Given the description of an element on the screen output the (x, y) to click on. 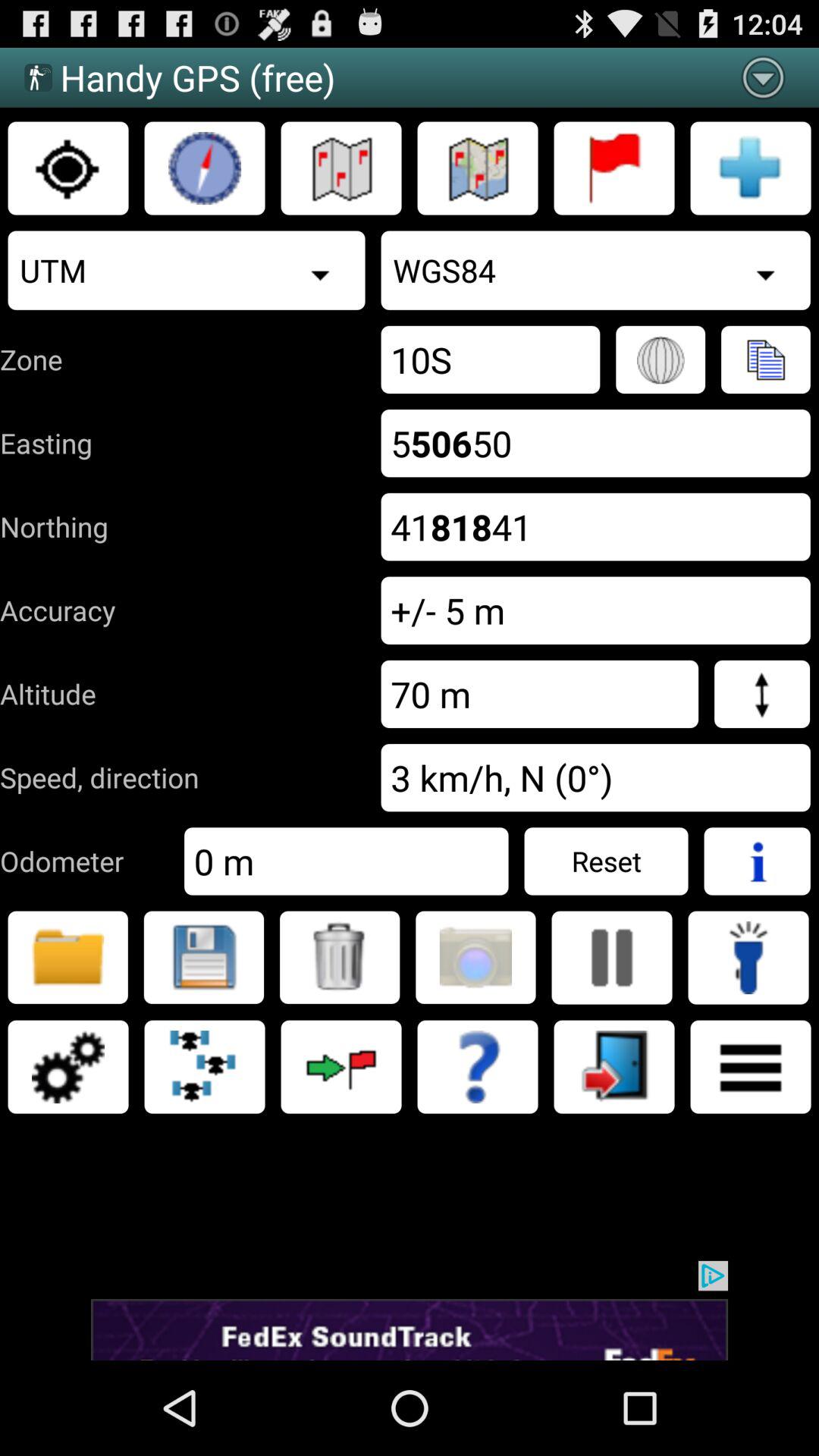
click for more items (750, 1066)
